Given the description of an element on the screen output the (x, y) to click on. 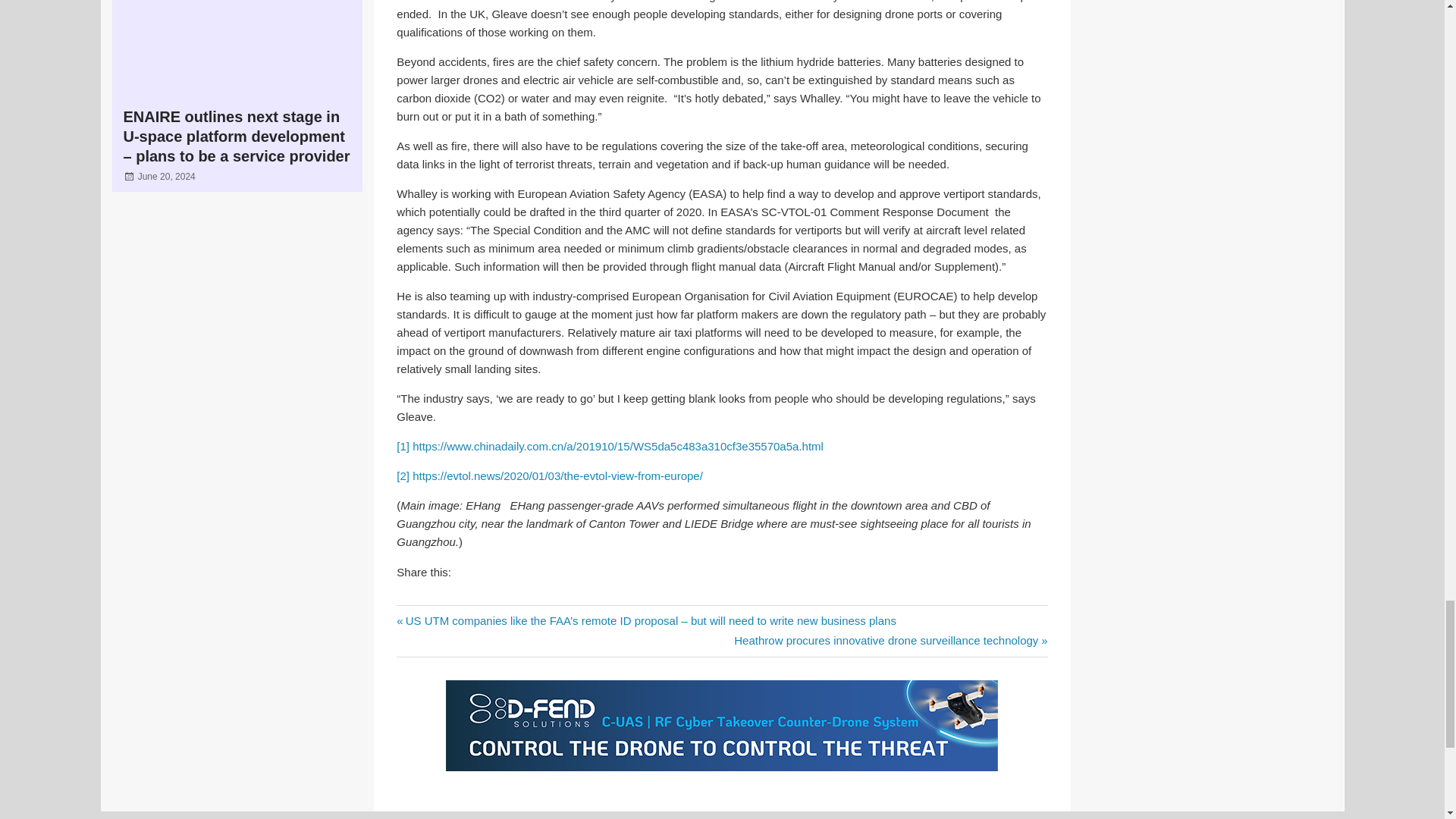
1:23 pm (166, 176)
